Given the description of an element on the screen output the (x, y) to click on. 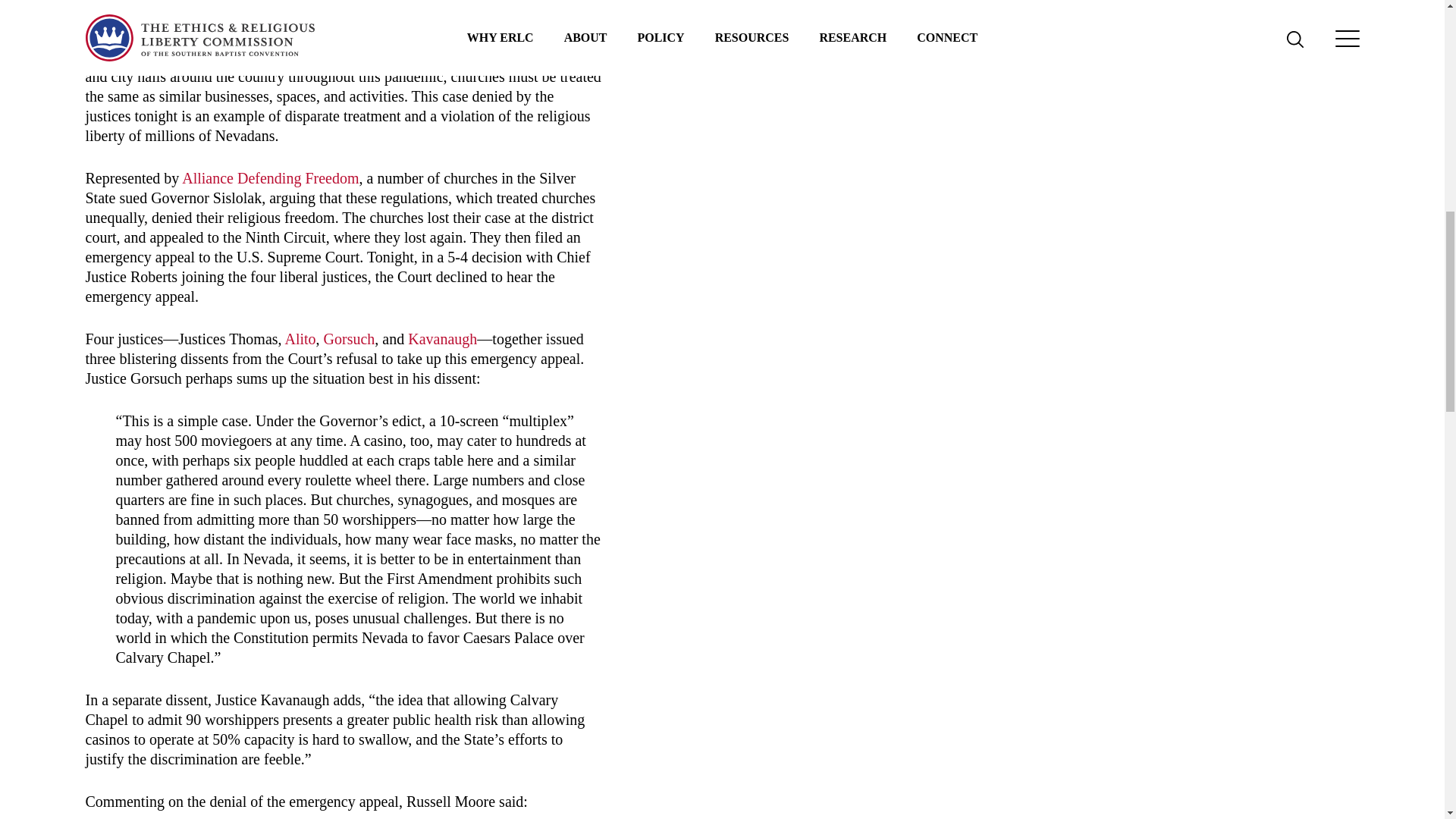
Alliance Defending Freedom (270, 177)
Alito (299, 338)
Kavanaugh (442, 338)
Gorsuch (349, 338)
